Given the description of an element on the screen output the (x, y) to click on. 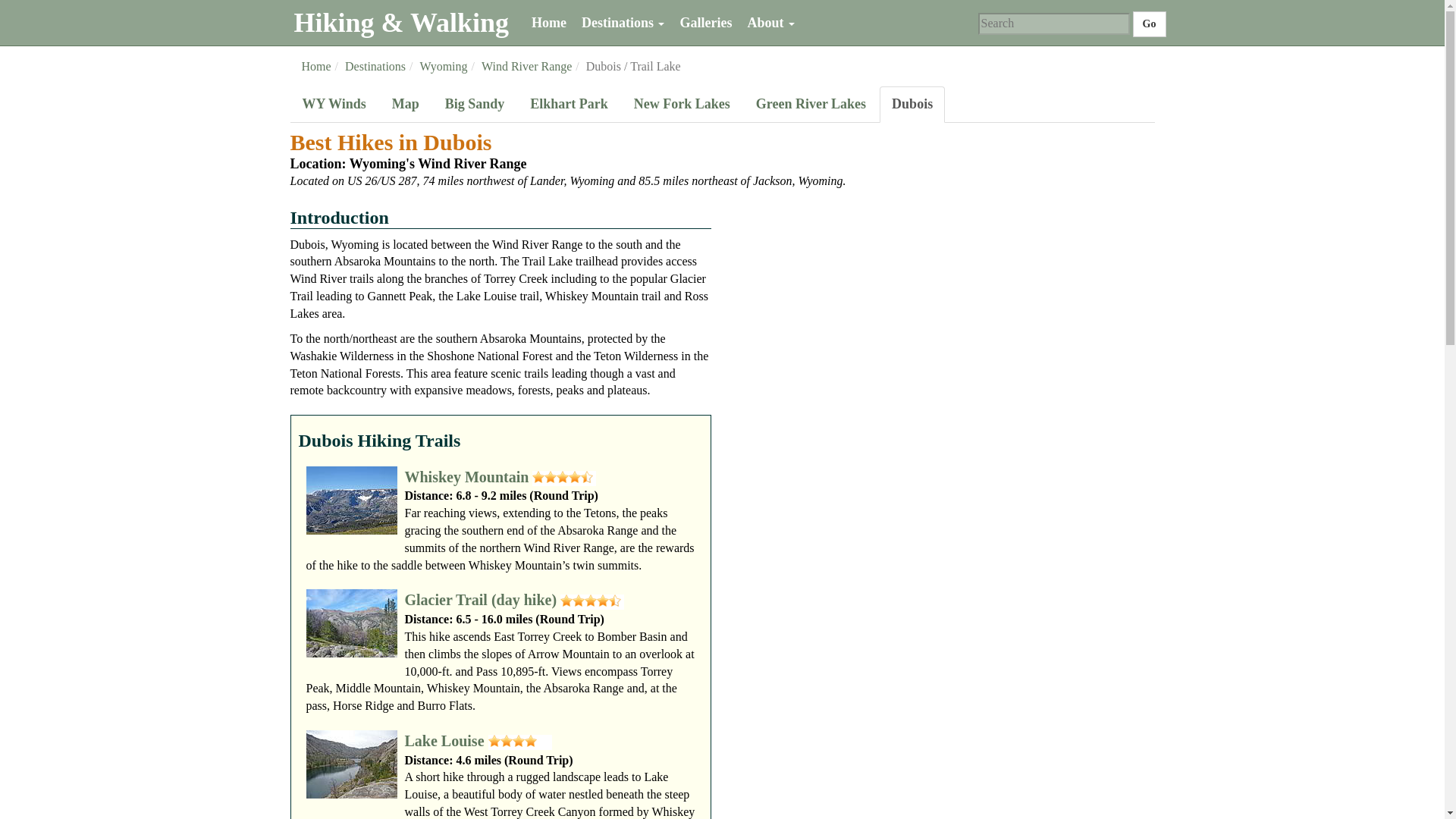
Destinations (622, 22)
Home (548, 22)
Go (1149, 23)
Go (1149, 23)
